Given the description of an element on the screen output the (x, y) to click on. 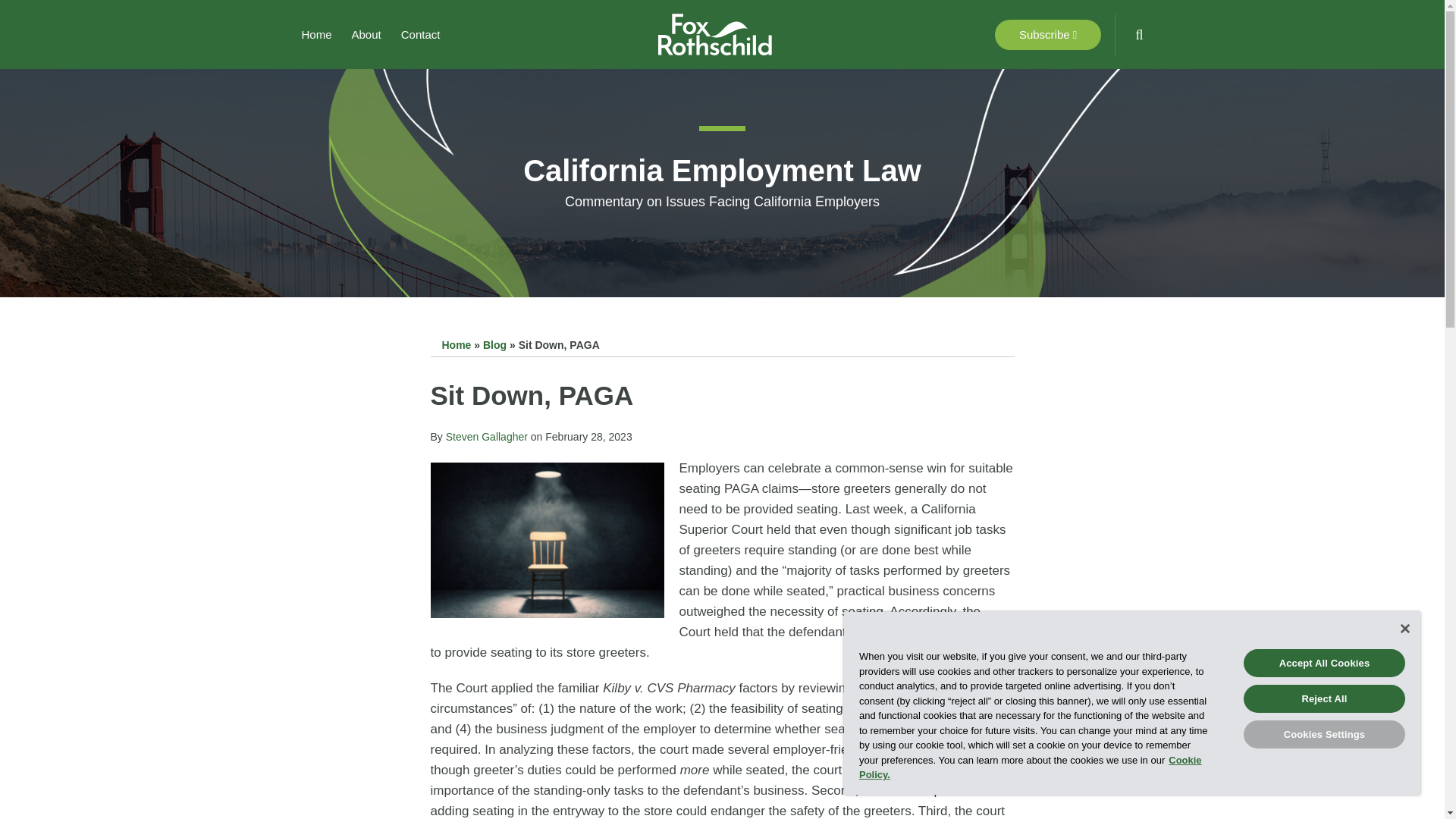
Home (316, 34)
Steven Gallagher (486, 436)
About (366, 34)
Subscribe (1047, 34)
California Employment Law (721, 170)
Contact (421, 34)
Blog (494, 345)
Home (455, 345)
